Given the description of an element on the screen output the (x, y) to click on. 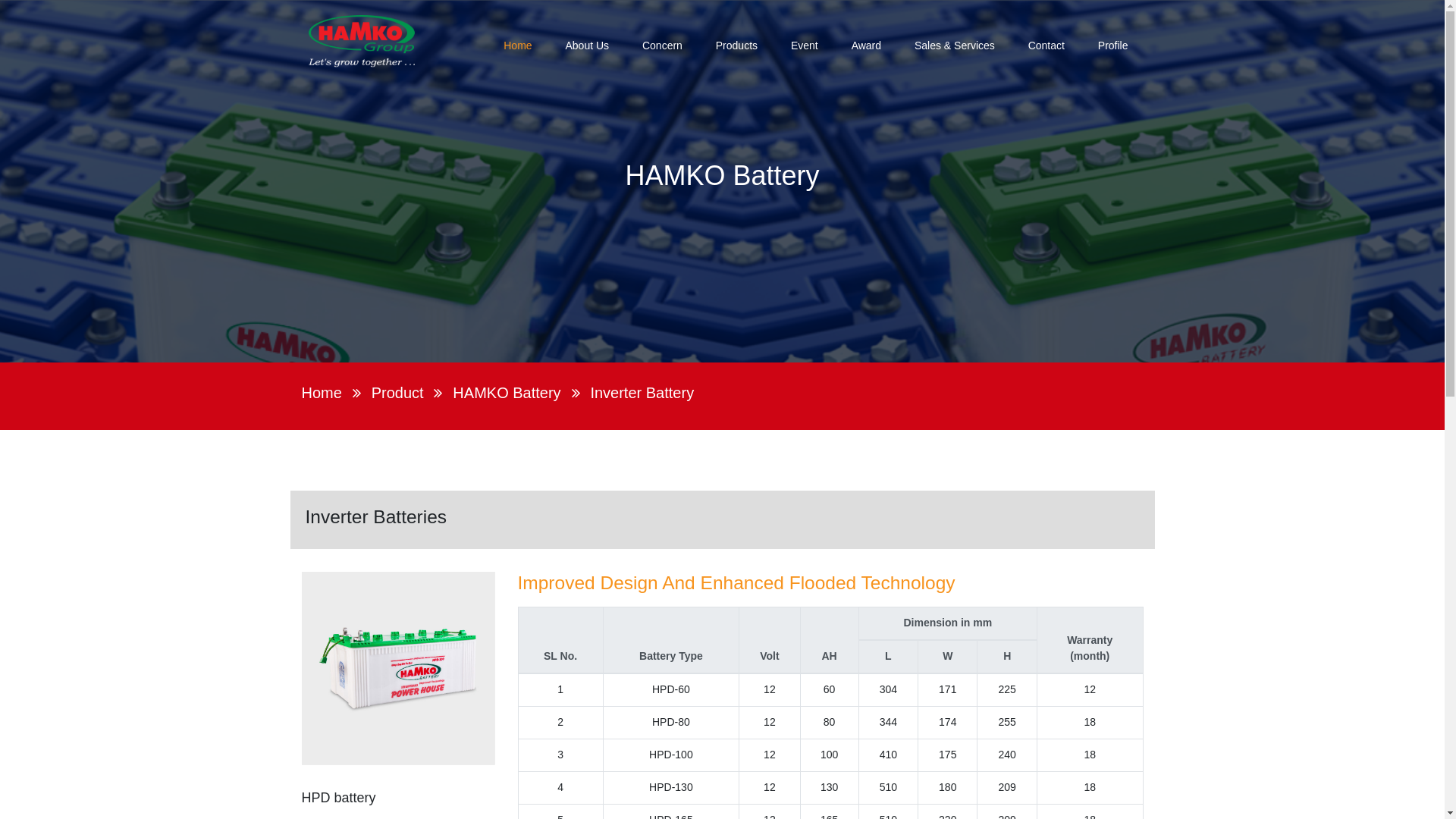
Award Element type: text (866, 46)
HAMKO Battery Element type: text (506, 392)
Event Element type: text (804, 46)
Concern Element type: text (662, 46)
Product Element type: text (397, 392)
About Us Element type: text (586, 46)
Contact Element type: text (1046, 46)
Sales & Services Element type: text (954, 46)
Inverter Battery Element type: text (641, 392)
Profile Element type: text (1113, 46)
Products Element type: text (736, 46)
Home Element type: text (321, 392)
Home Element type: text (517, 46)
